Given the description of an element on the screen output the (x, y) to click on. 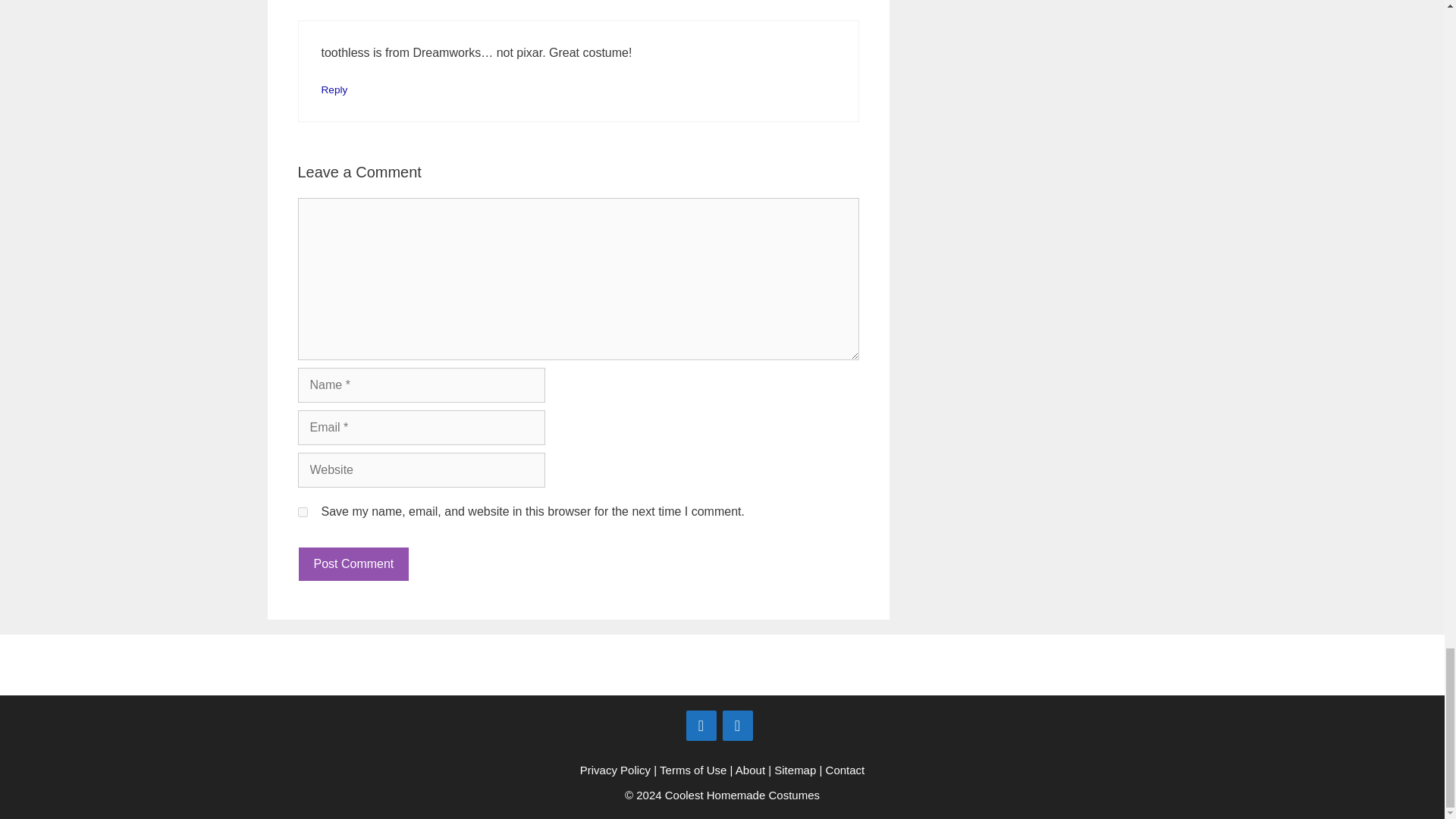
yes (302, 511)
Post Comment (353, 564)
Instagram (737, 725)
Facebook (700, 725)
